Given the description of an element on the screen output the (x, y) to click on. 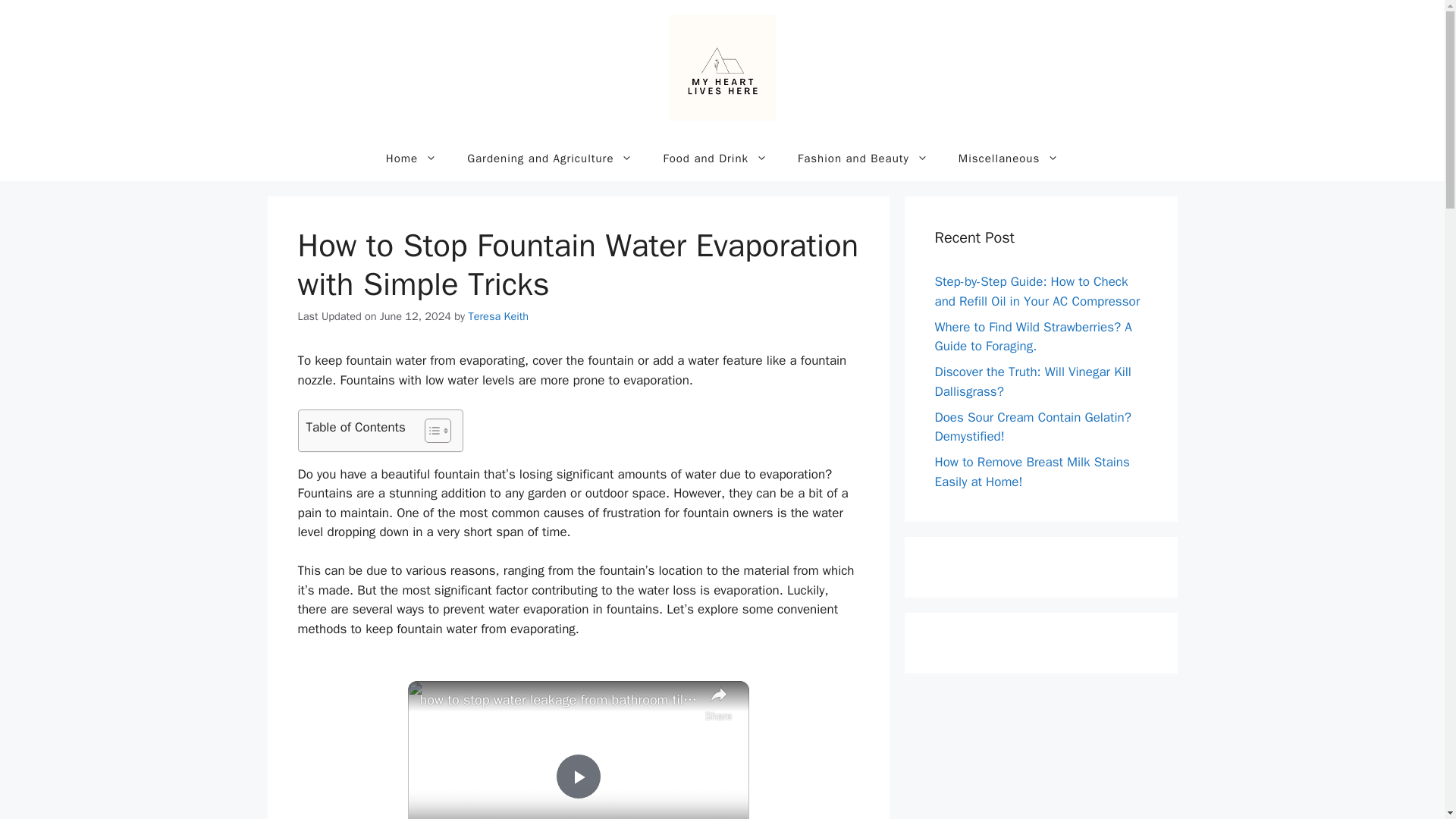
Food and Drink (715, 157)
View all posts by Teresa Keith (498, 315)
Fashion and Beauty (863, 157)
Miscellaneous (1008, 157)
Play Video (576, 776)
Teresa Keith (498, 315)
Play Video (576, 776)
Home (411, 157)
Gardening and Agriculture (549, 157)
